Given the description of an element on the screen output the (x, y) to click on. 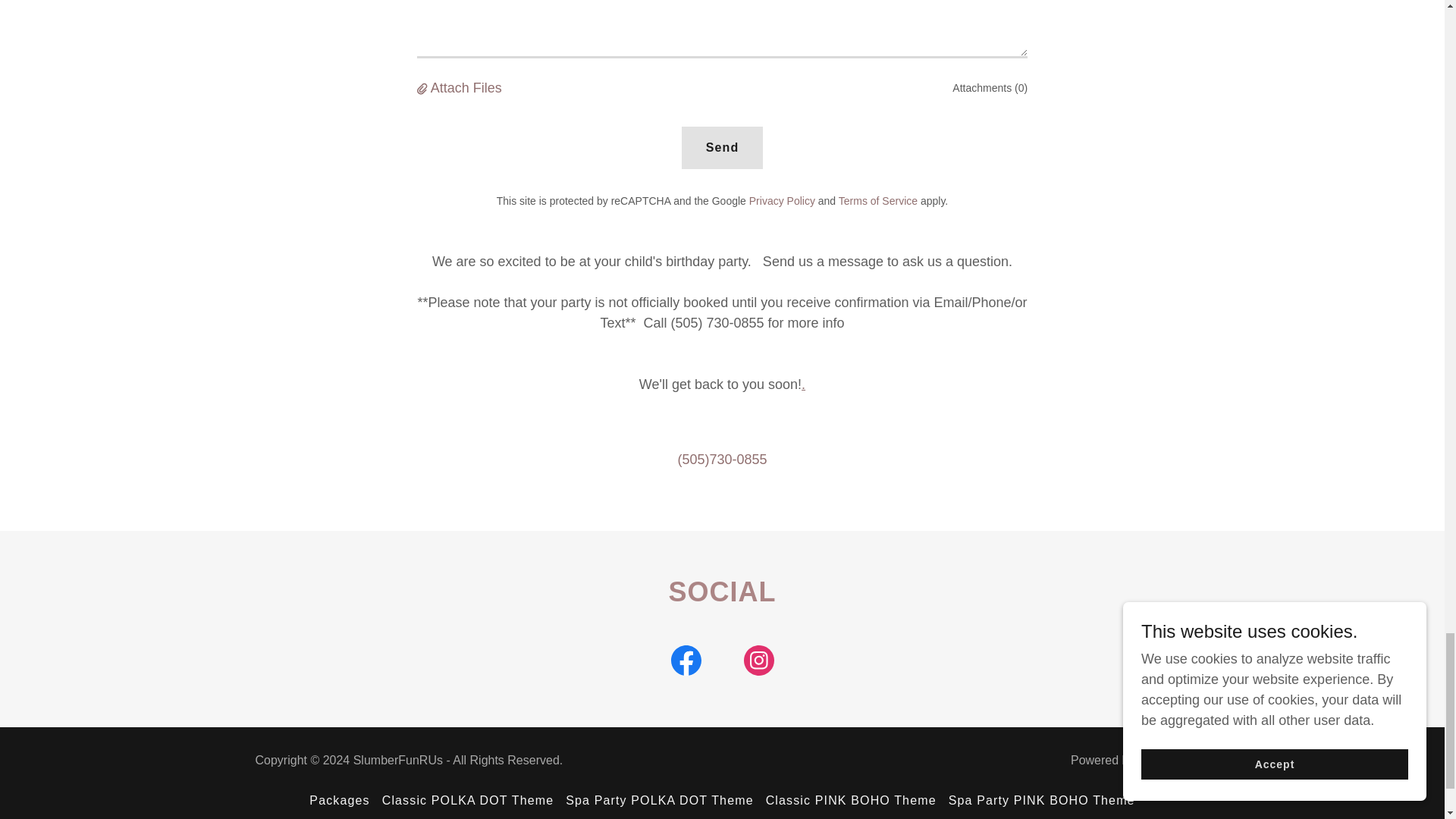
Privacy Policy (782, 200)
Terms of Service (877, 200)
GoDaddy (1163, 759)
Send (721, 147)
